Given the description of an element on the screen output the (x, y) to click on. 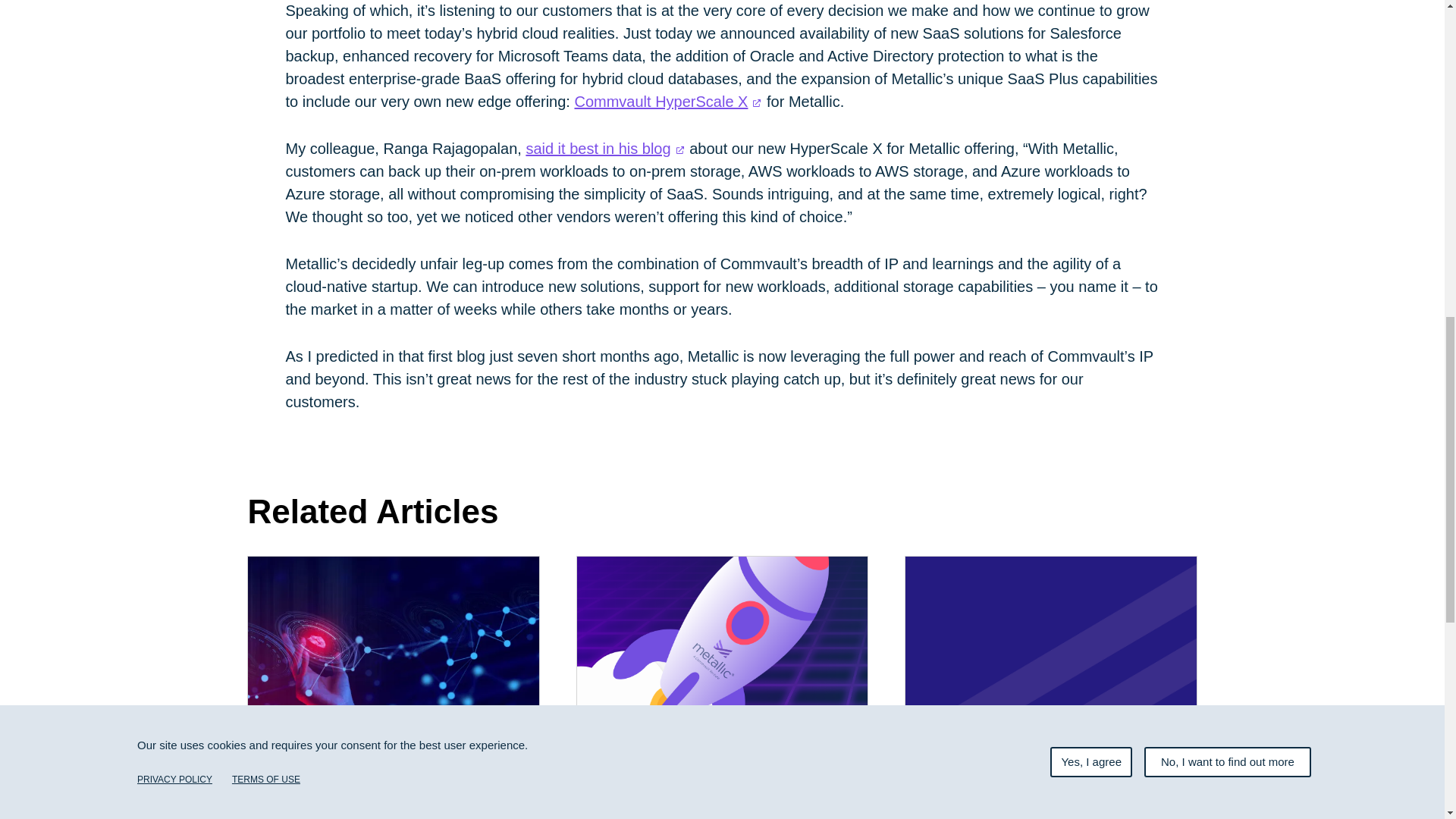
said it best in his blog (604, 148)
Commvault HyperScale X (667, 101)
BLOG (930, 749)
BLOG (273, 749)
BLOG (602, 749)
